Given the description of an element on the screen output the (x, y) to click on. 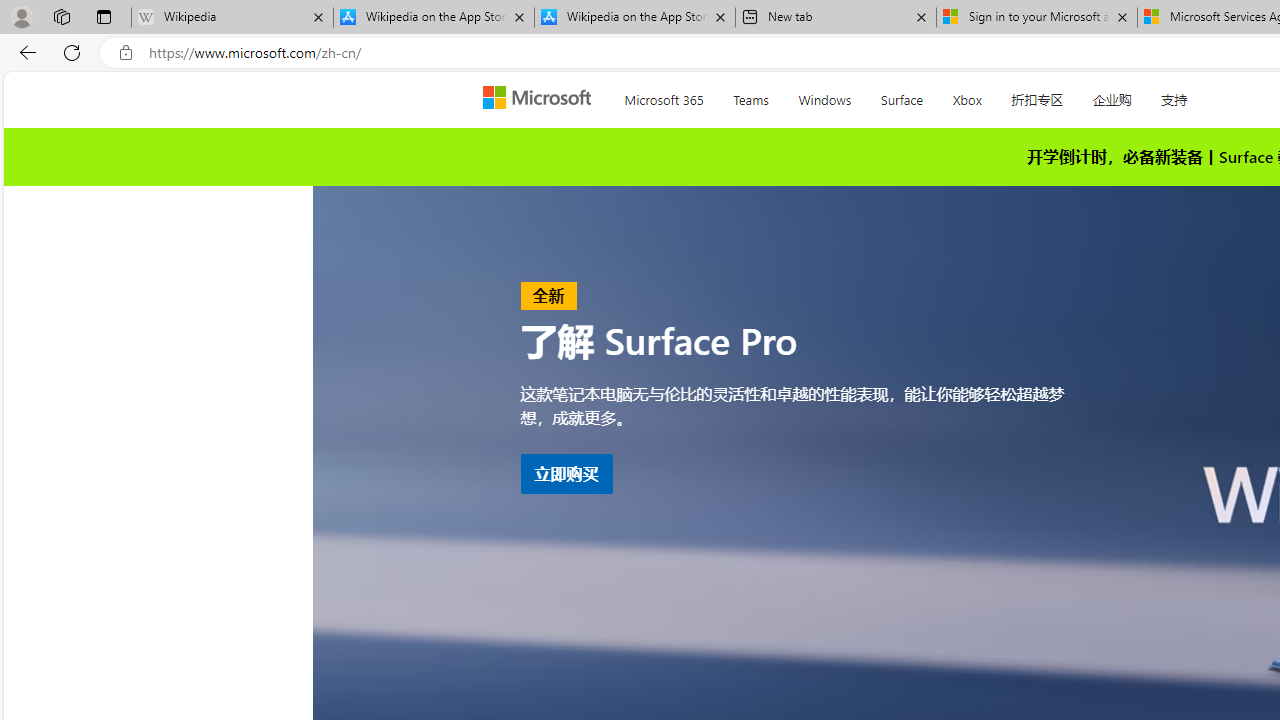
Windows (824, 96)
Teams (751, 96)
Surface (901, 96)
Xbox (966, 96)
Xbox (966, 96)
Wikipedia - Sleeping (231, 17)
